Given the description of an element on the screen output the (x, y) to click on. 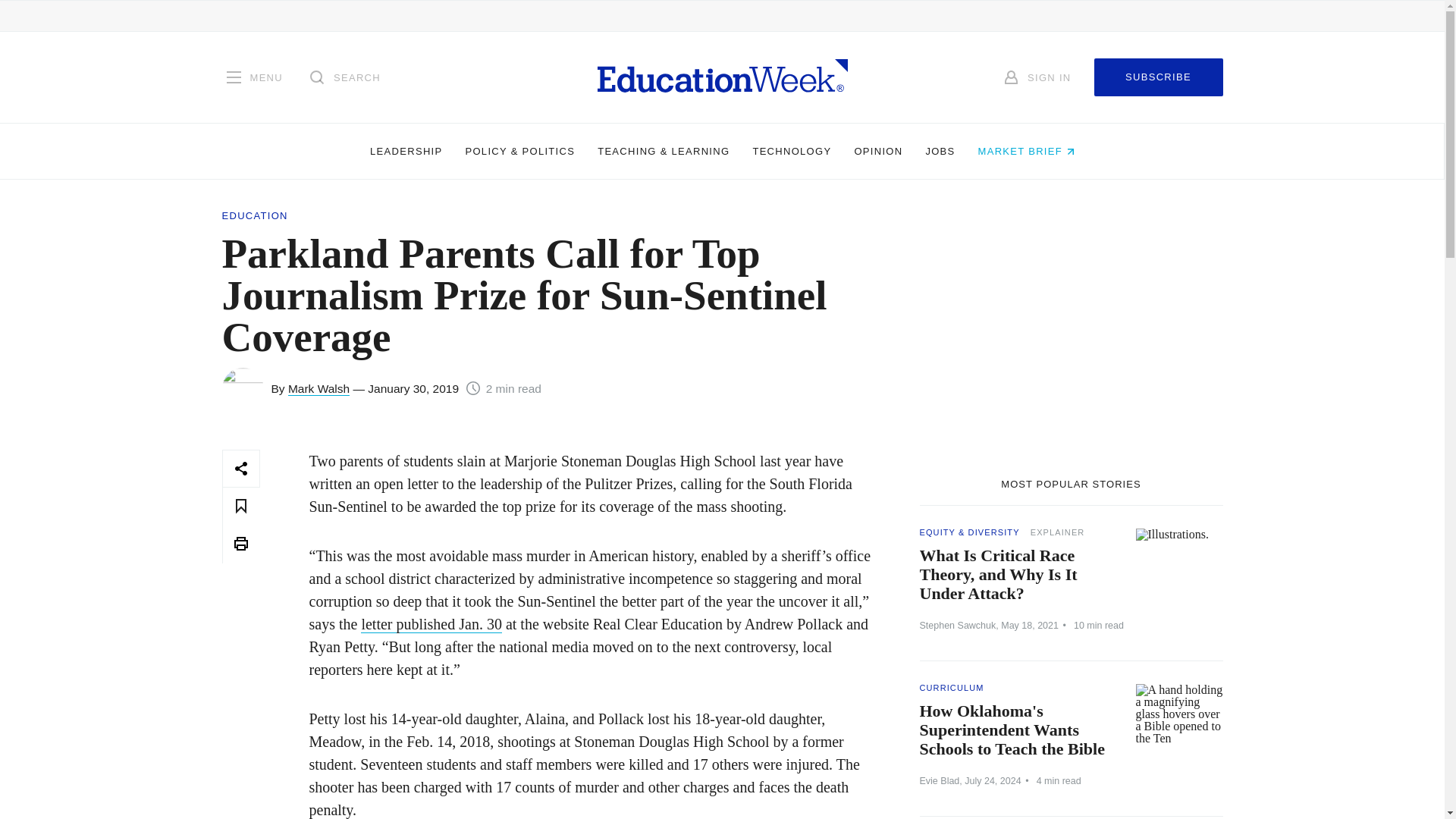
Homepage (721, 76)
